Given the description of an element on the screen output the (x, y) to click on. 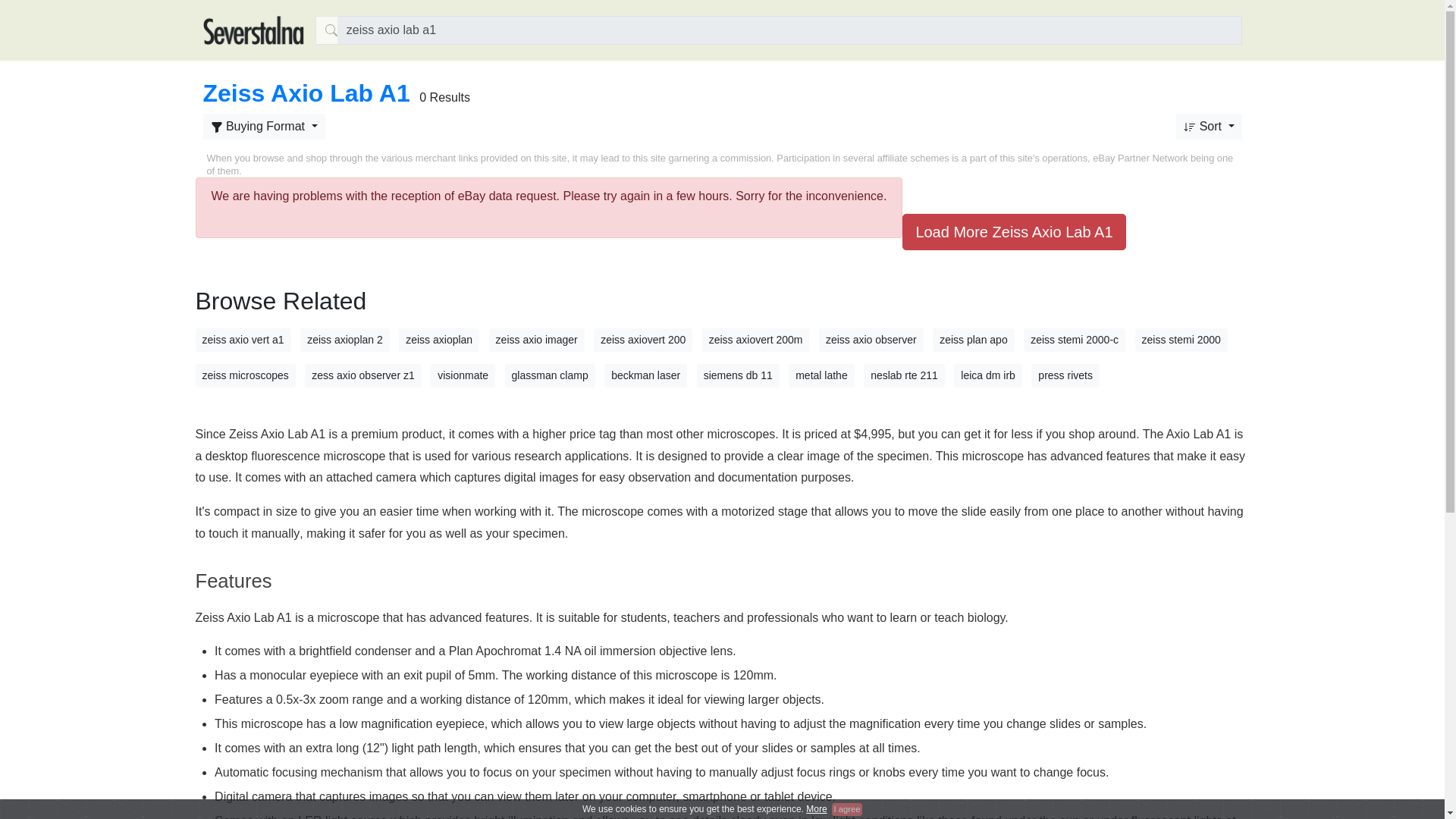
press rivets (1064, 375)
neslab rte 211 (903, 375)
beckman laser for sale (645, 375)
zeiss axioplan for sale (438, 340)
Sort (263, 126)
zeiss axio imager for sale (537, 340)
zeiss axiovert 200m for sale (755, 340)
metal lathe (821, 375)
zeiss axio observer for sale (870, 340)
Buying Format (263, 126)
leica dm irb (987, 375)
zeiss axio vert a1 (243, 340)
siemens db 11 (737, 375)
zeiss stemi 2000-c for sale (1074, 340)
siemens db 11 for sale (737, 375)
